Given the description of an element on the screen output the (x, y) to click on. 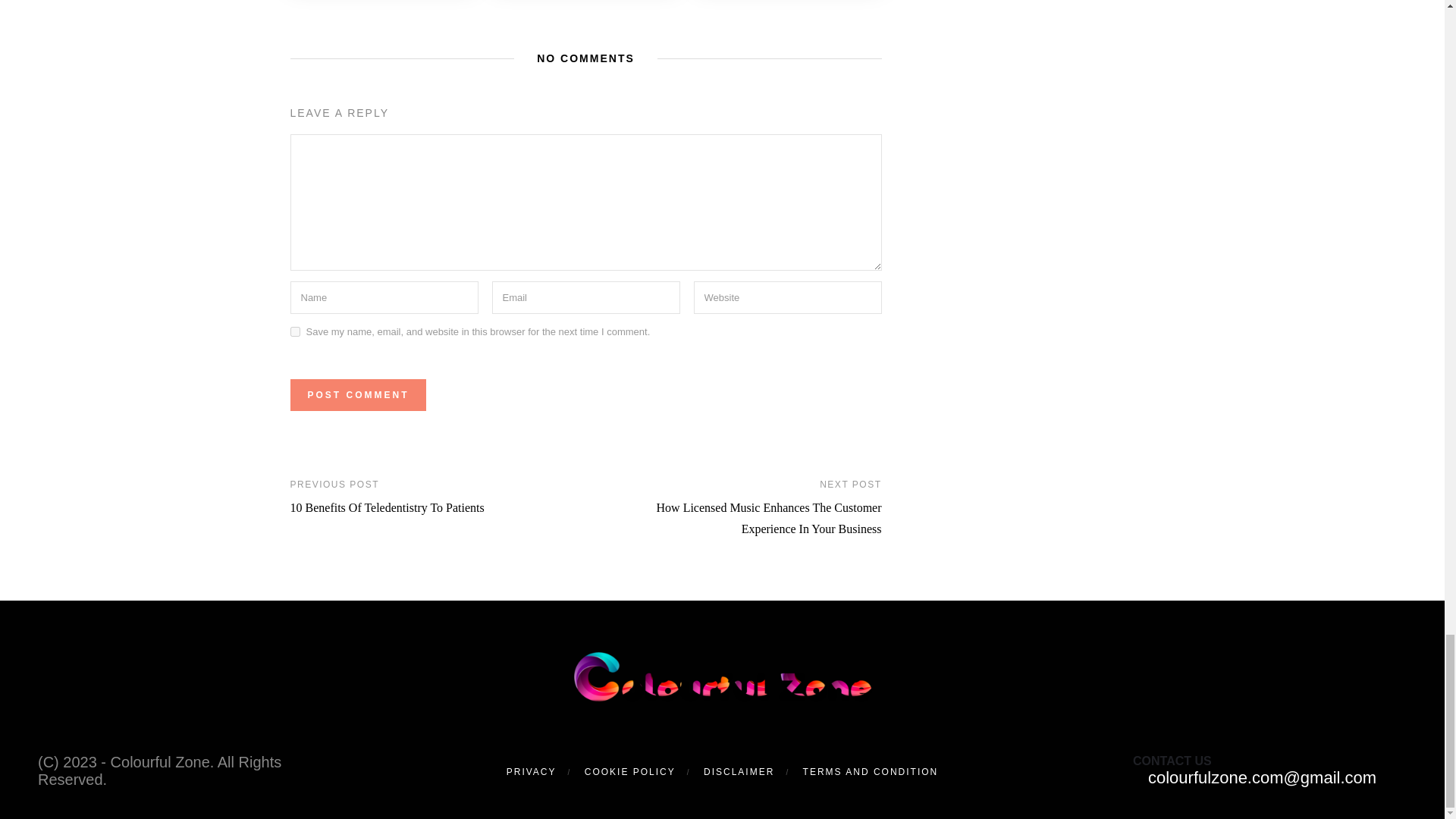
Post Comment (357, 395)
Please wait until Google reCAPTCHA is loaded. (357, 395)
yes (294, 331)
